Given the description of an element on the screen output the (x, y) to click on. 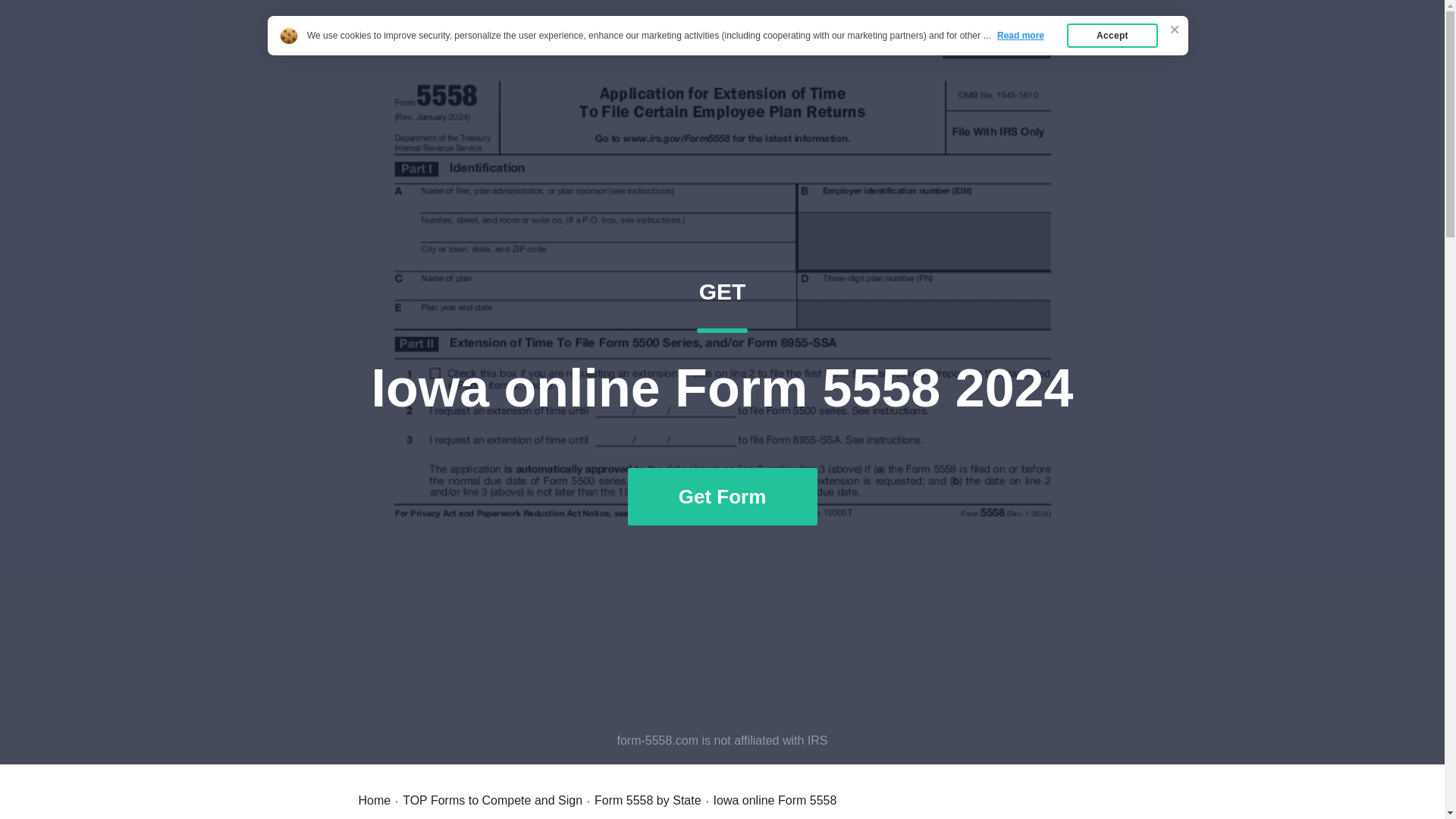
Home (987, 47)
Form 5558 by State (647, 800)
Form 5558 (492, 800)
Home (397, 46)
Top Forms (374, 800)
